Given the description of an element on the screen output the (x, y) to click on. 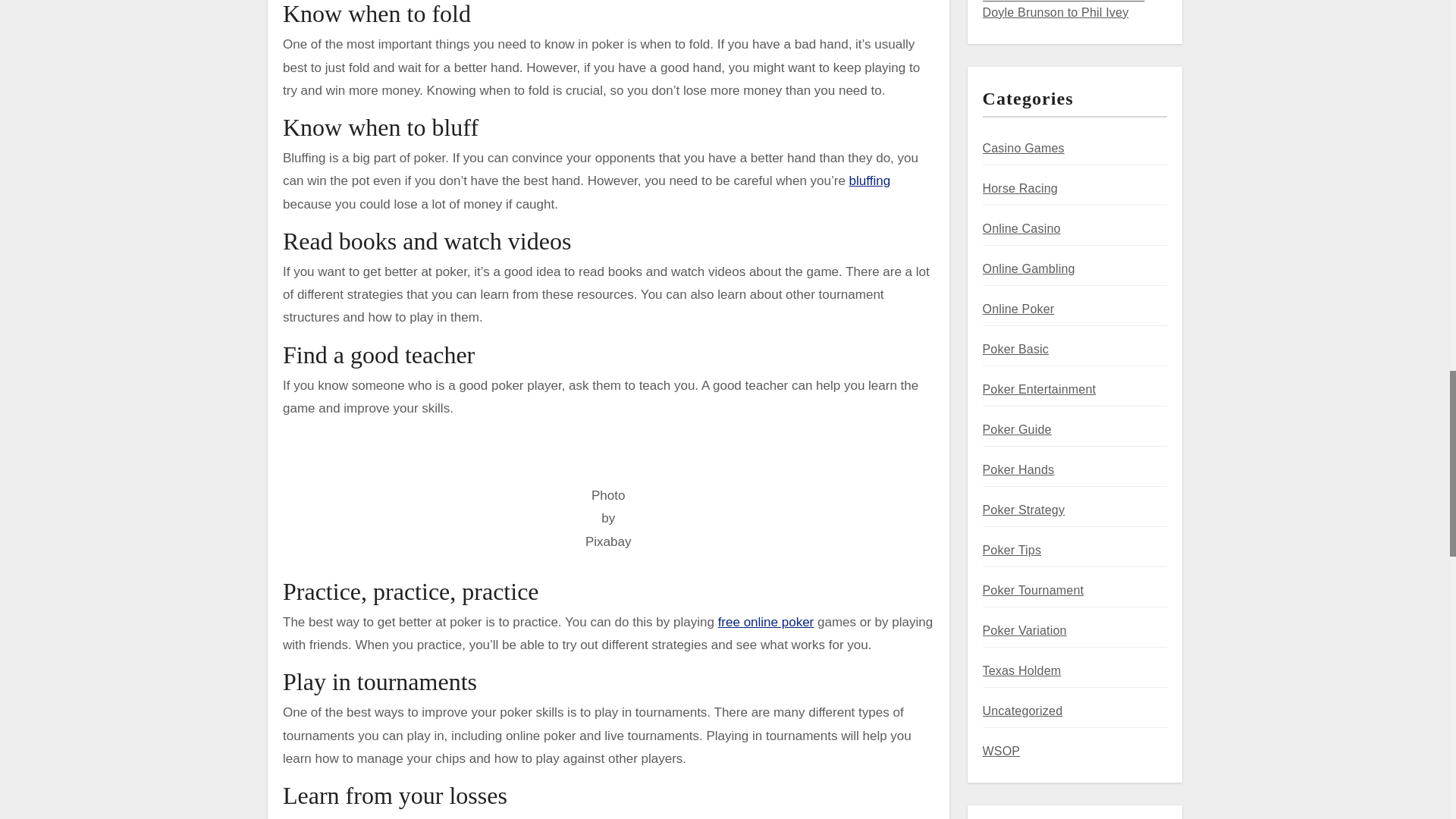
online poker (778, 622)
bluffing (869, 180)
free (730, 622)
